Given the description of an element on the screen output the (x, y) to click on. 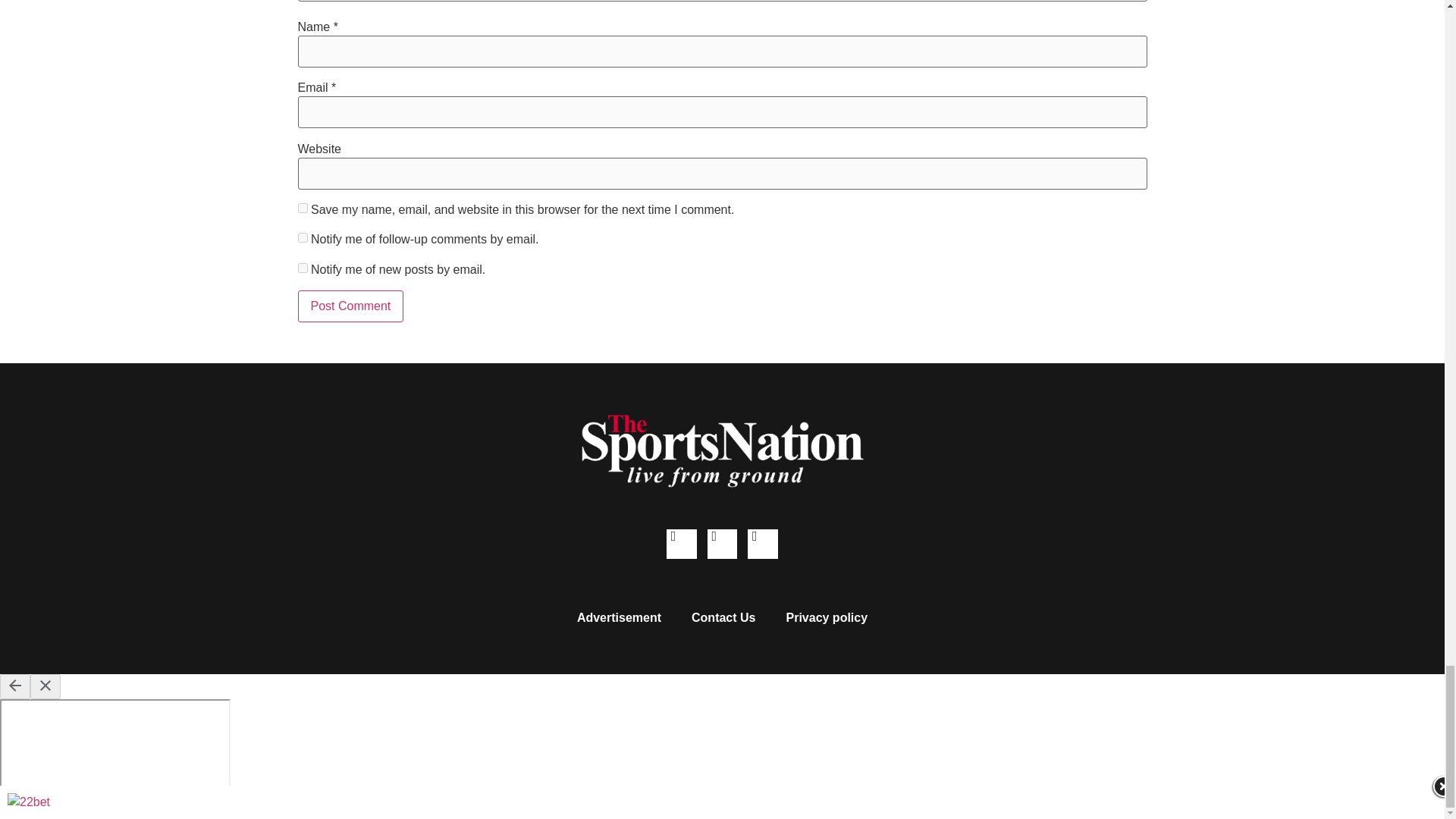
subscribe (302, 237)
subscribe (302, 267)
yes (302, 207)
Post Comment (350, 306)
